Given the description of an element on the screen output the (x, y) to click on. 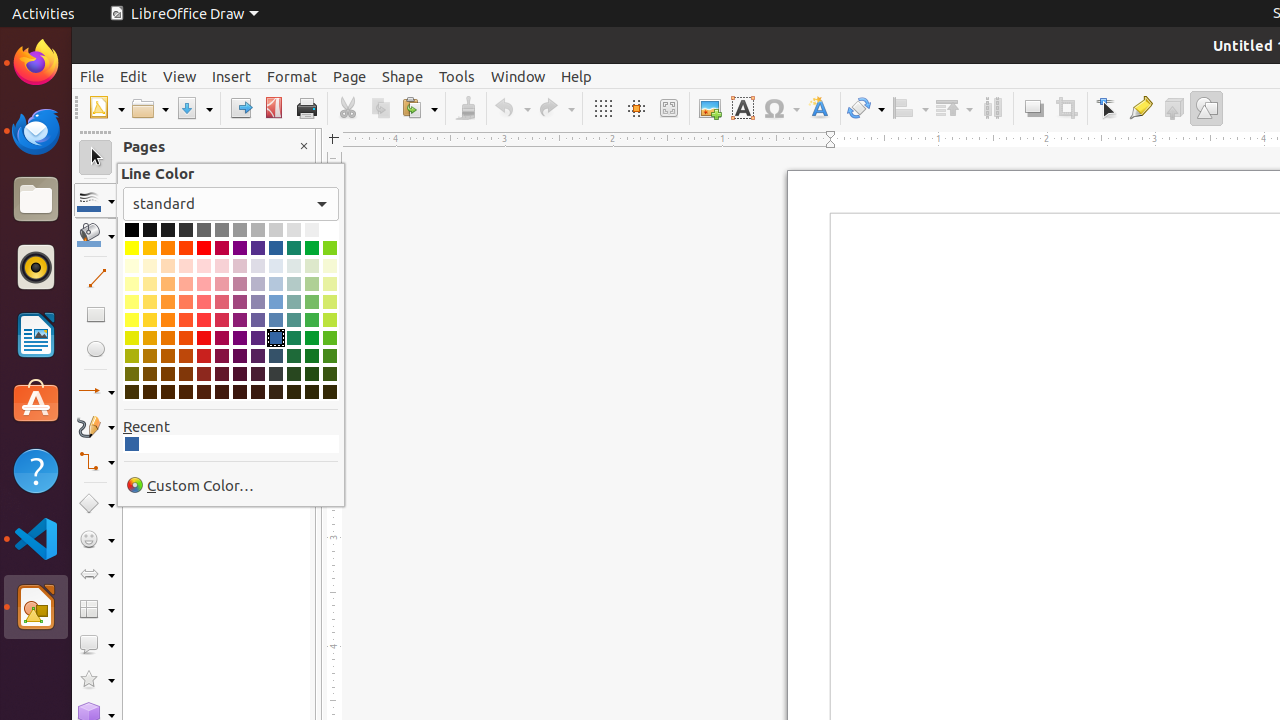
Dark Red 2 Element type: list-item (204, 356)
New Element type: push-button (106, 108)
Dark Indigo 4 Element type: list-item (258, 392)
Cut Element type: push-button (347, 108)
Light Gold 4 Element type: list-item (150, 266)
